Given the description of an element on the screen output the (x, y) to click on. 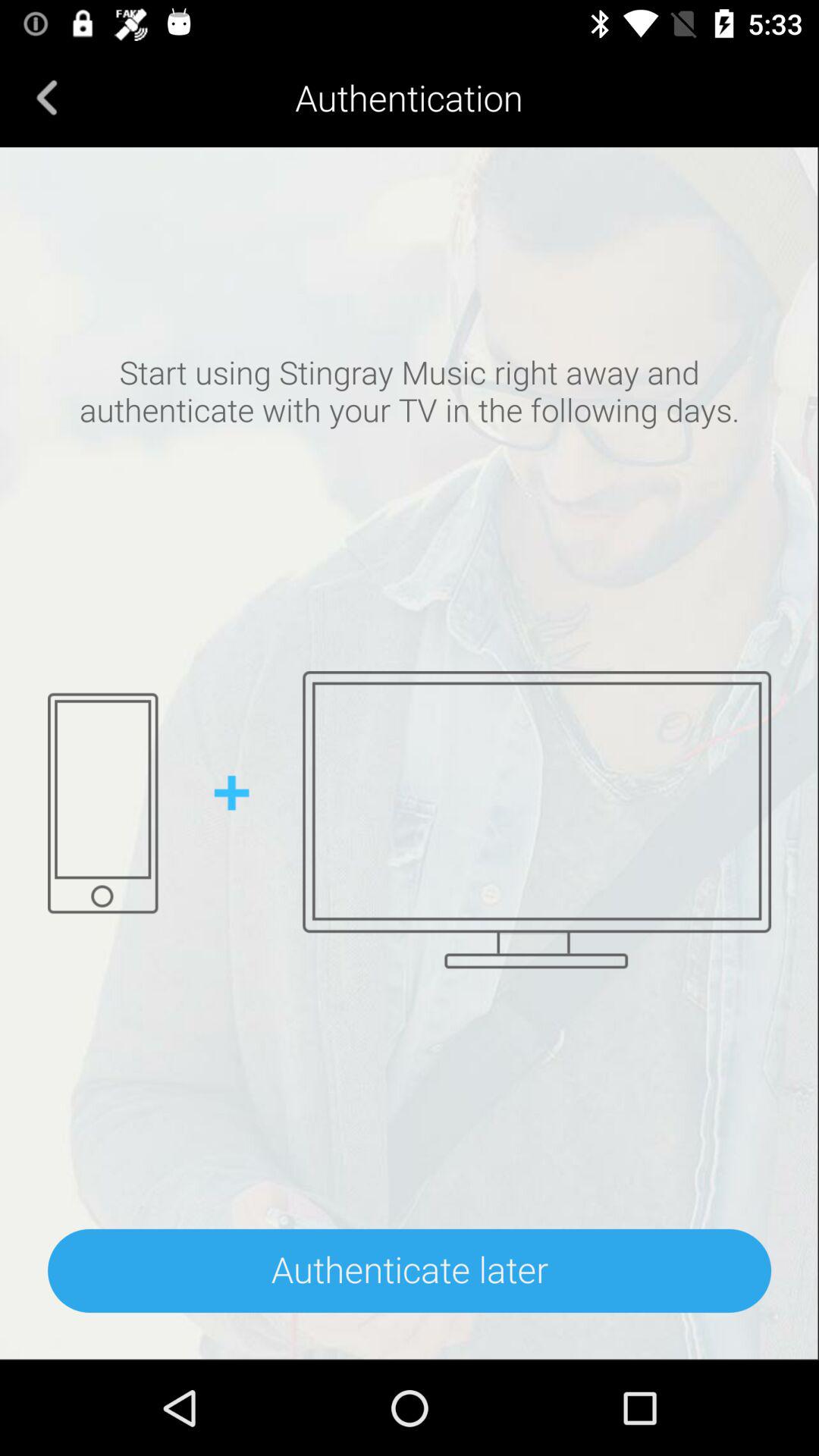
choose item to the left of the authentication item (47, 97)
